Given the description of an element on the screen output the (x, y) to click on. 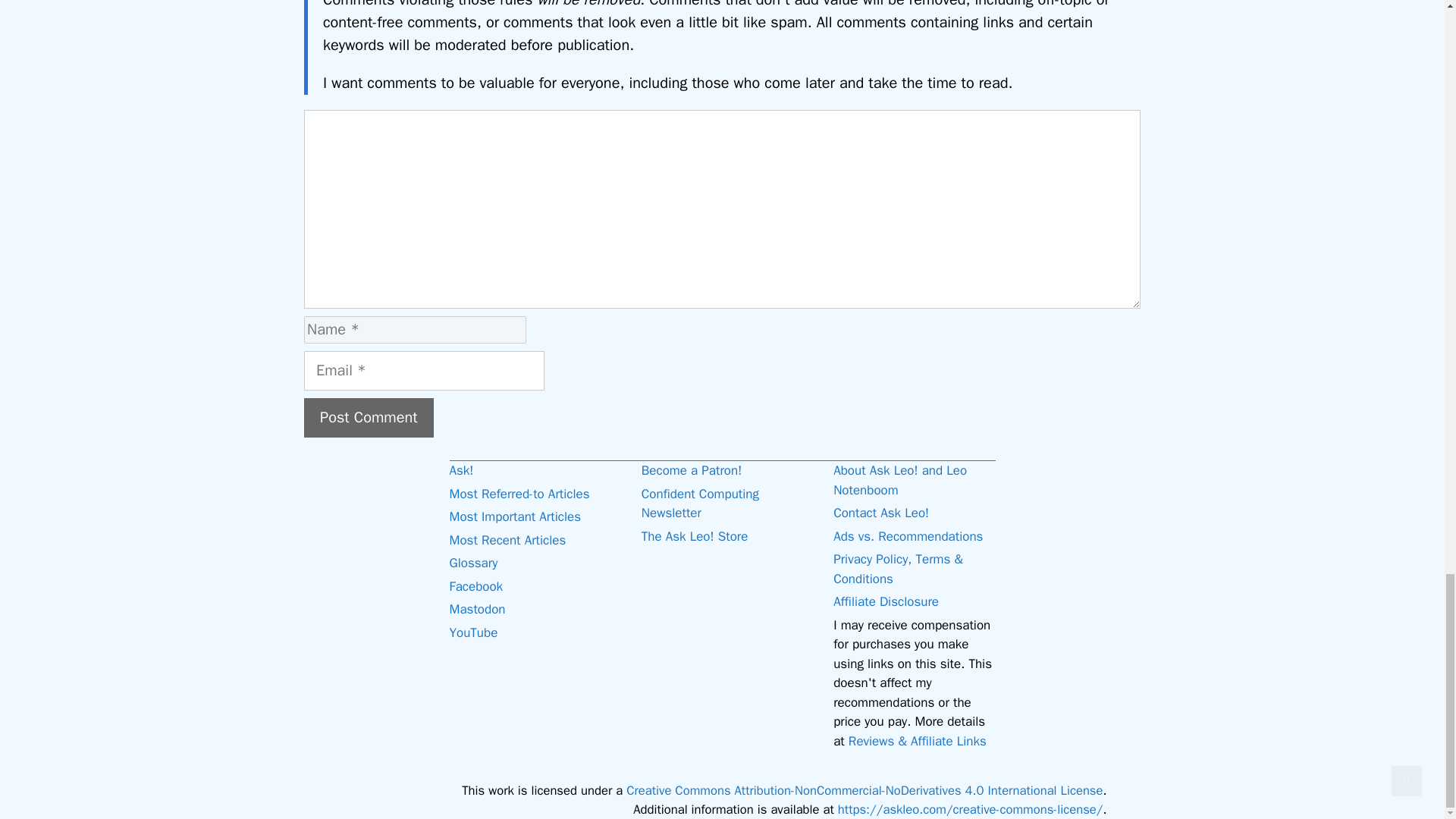
Ask! (460, 470)
Most Referred-to Articles (518, 494)
Facebook (475, 586)
Most Important Articles (514, 516)
Mastodon (476, 609)
Post Comment (368, 417)
Glossary (472, 562)
Most Recent Articles (507, 539)
Post Comment (368, 417)
